Given the description of an element on the screen output the (x, y) to click on. 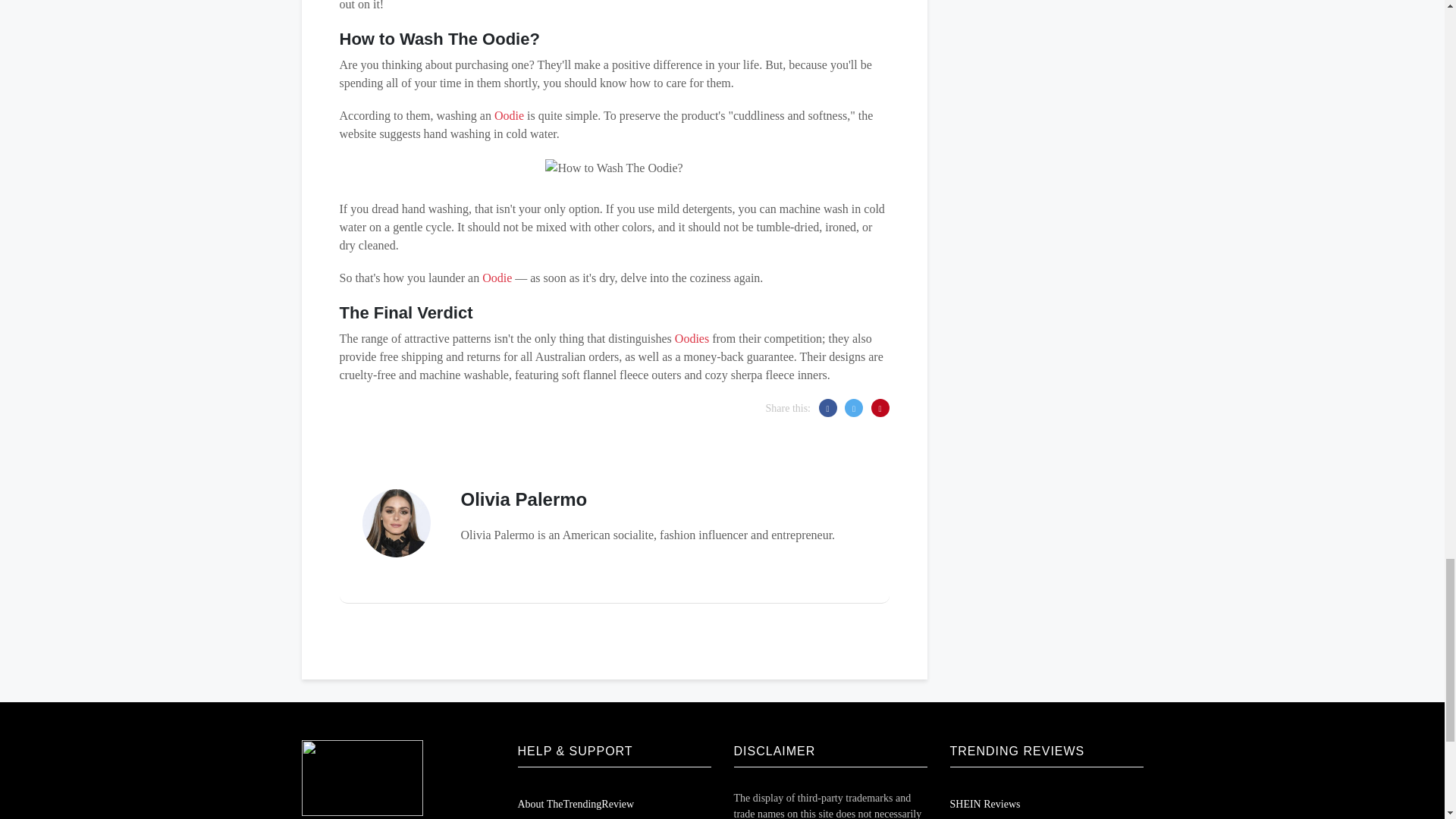
Oodies (692, 338)
Oodie (496, 277)
Oodie (509, 115)
